Given the description of an element on the screen output the (x, y) to click on. 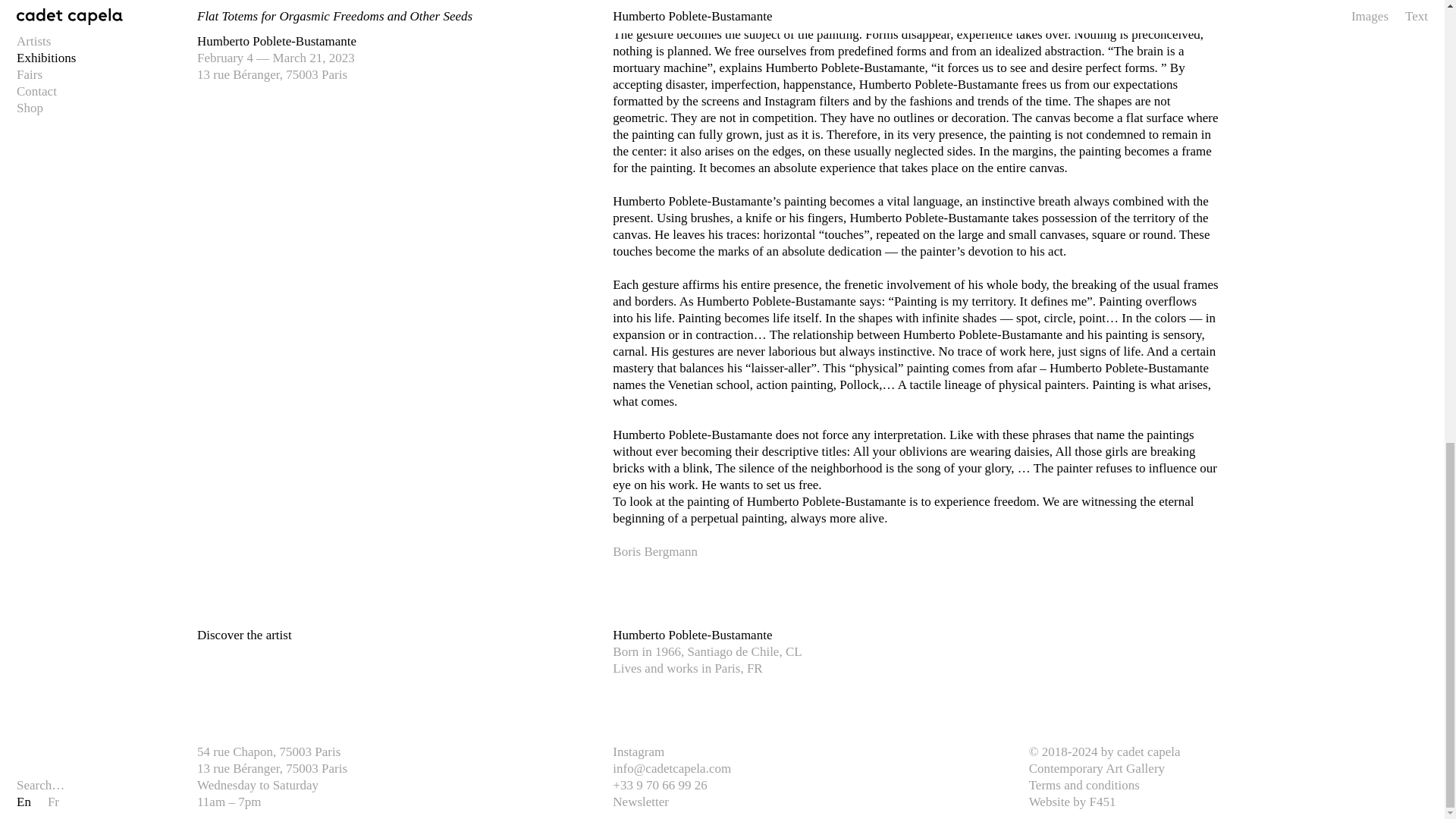
Terms and conditions (1084, 785)
F451 (1102, 801)
Newsletter (640, 801)
Instagram (637, 751)
